Given the description of an element on the screen output the (x, y) to click on. 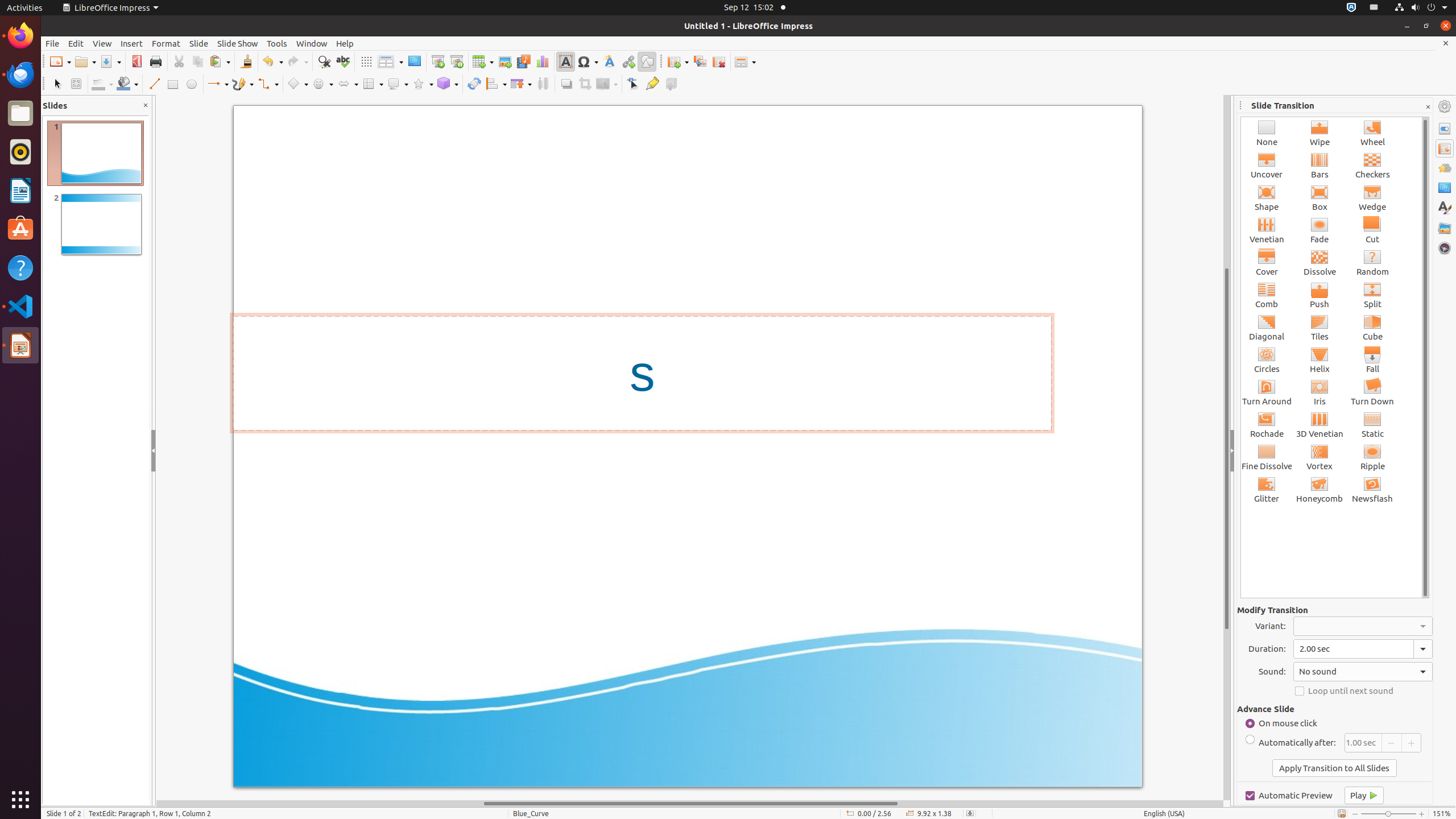
Diagonal Element type: list-item (1266, 326)
Fine Dissolve Element type: list-item (1266, 456)
:1.72/StatusNotifierItem Element type: menu (1350, 7)
Static Element type: list-item (1372, 424)
New Element type: push-button (59, 61)
